Given the description of an element on the screen output the (x, y) to click on. 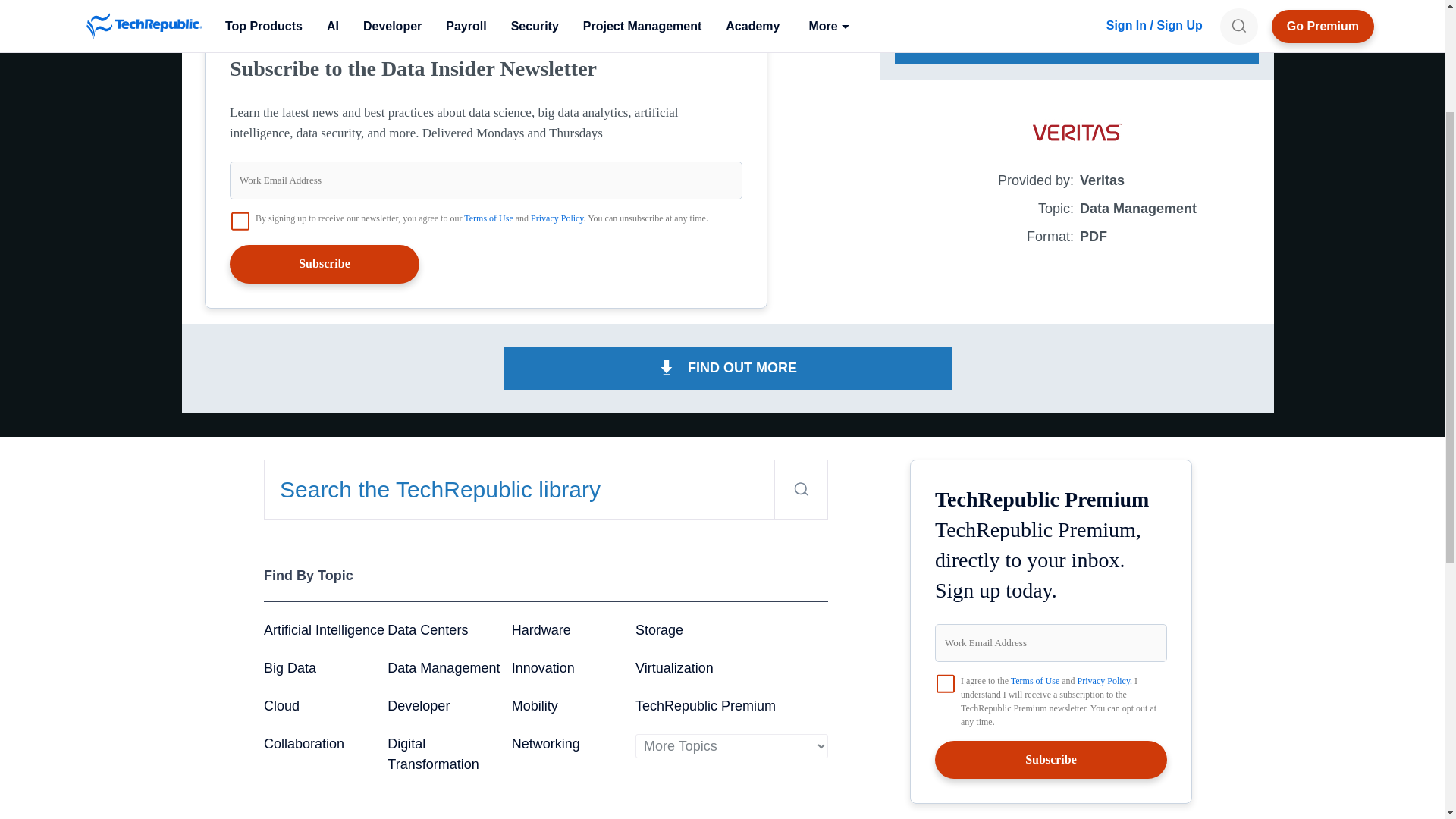
Subscribe (324, 263)
Privacy Policy (557, 217)
Artificial Intelligence (323, 630)
Terms of Use (488, 217)
on (239, 221)
FIND OUT MORE (1077, 42)
FIND OUT MORE (727, 367)
on (945, 683)
